Given the description of an element on the screen output the (x, y) to click on. 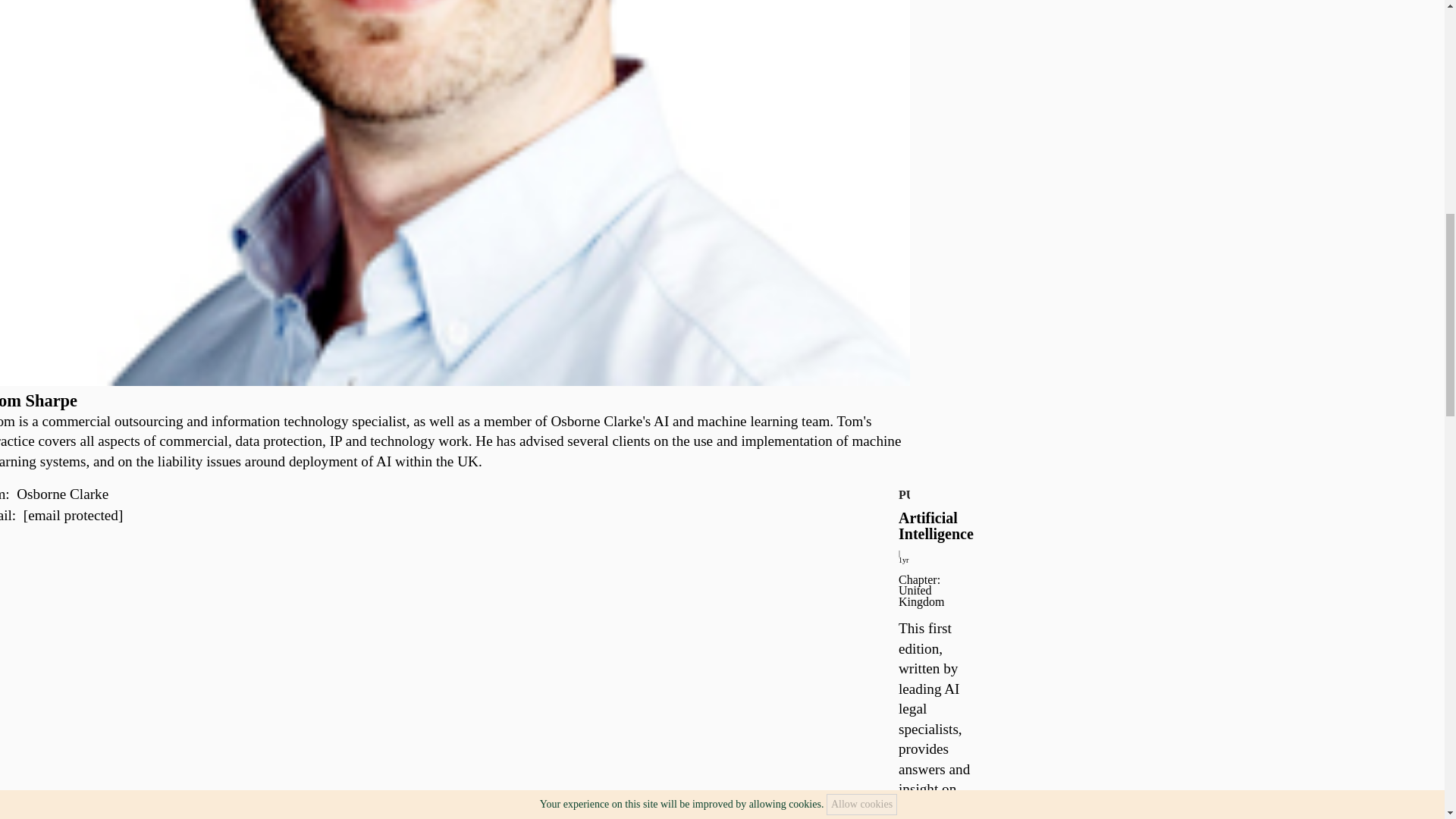
Artificial Intelligence (936, 525)
Osborne Clarke (61, 494)
Chapter: United Kingdom (920, 590)
